Given the description of an element on the screen output the (x, y) to click on. 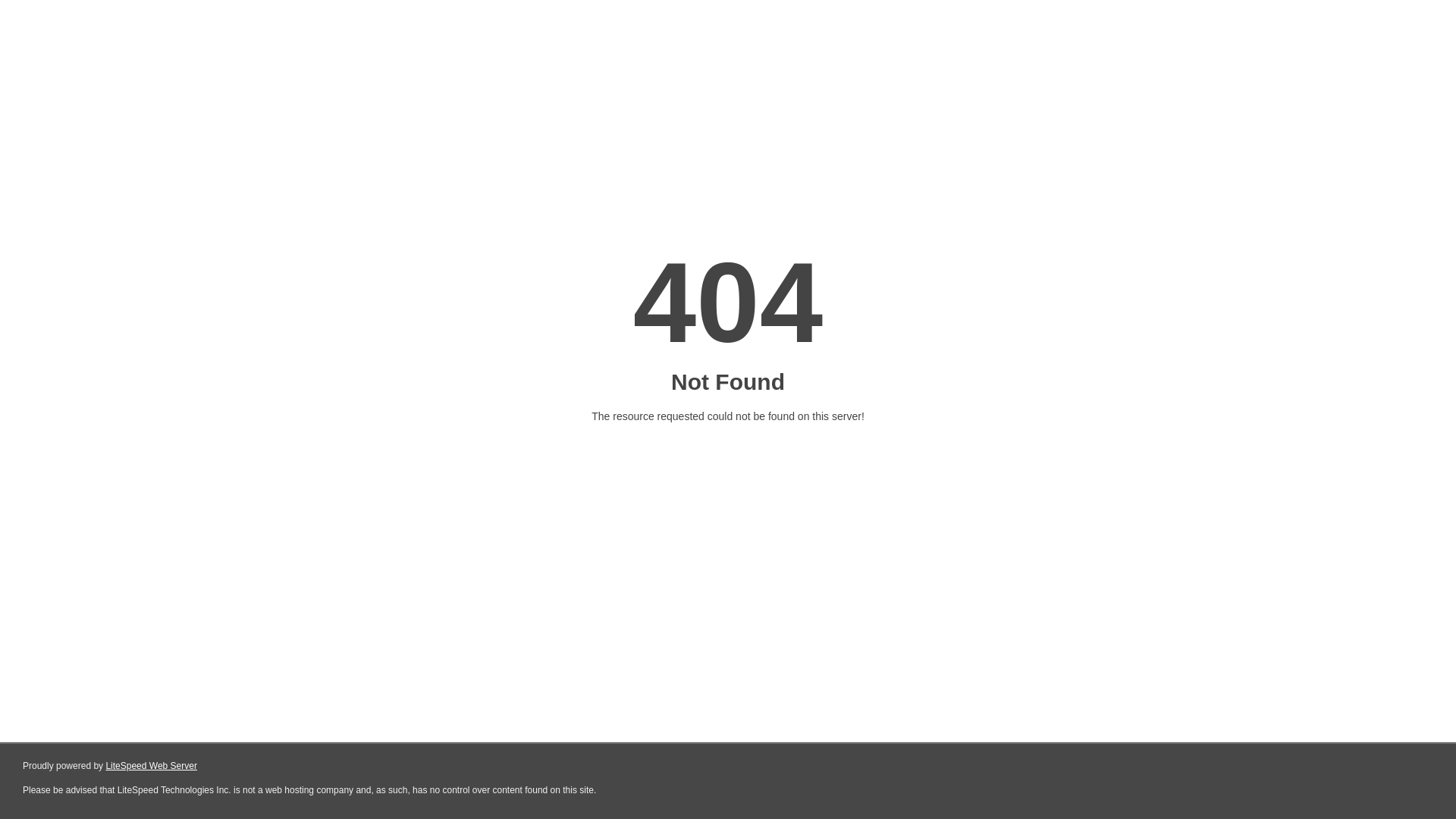
LiteSpeed Web Server Element type: text (151, 765)
